Given the description of an element on the screen output the (x, y) to click on. 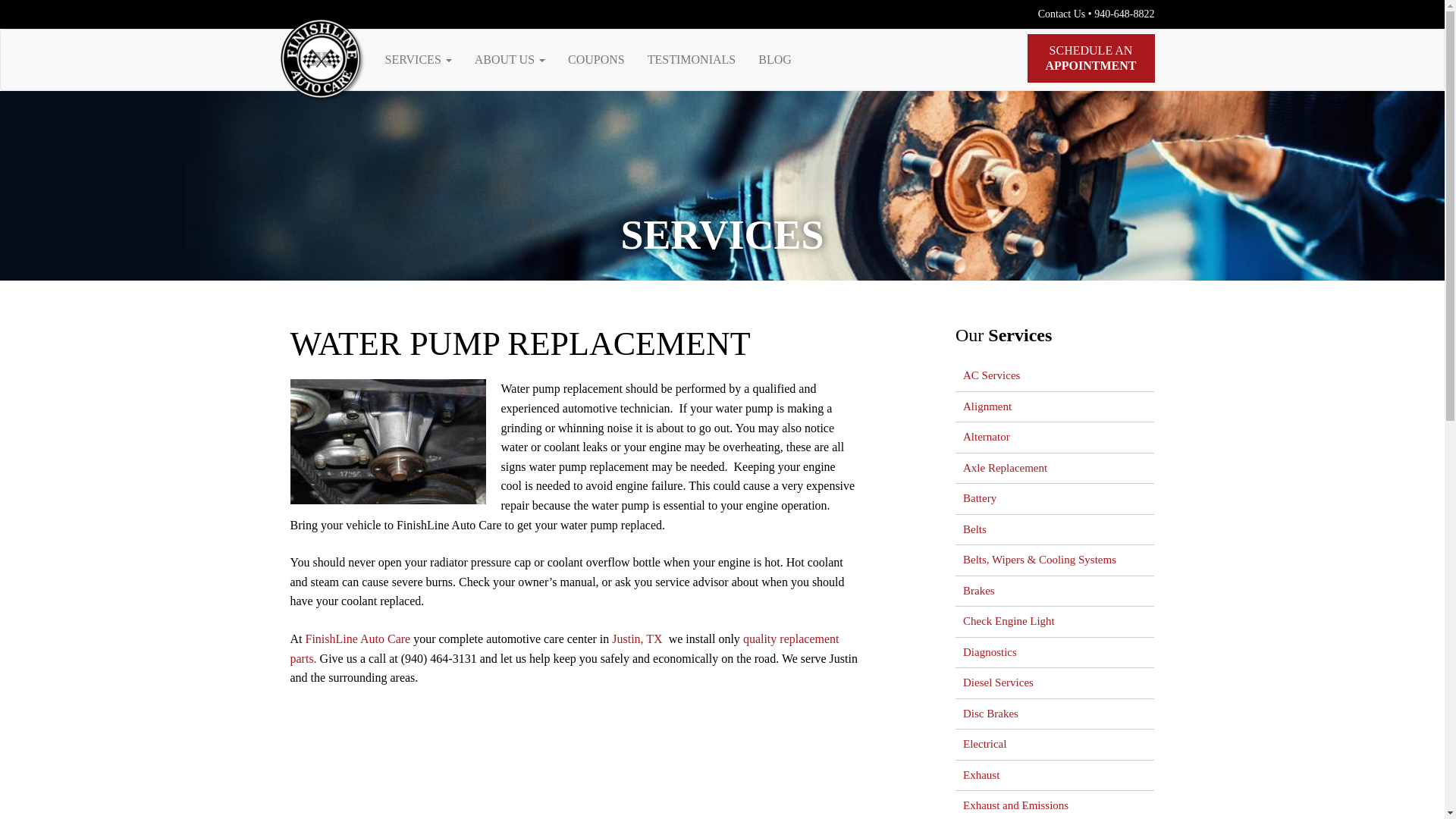
Services (417, 59)
ABOUT US (509, 59)
Testimonials (691, 59)
Blog (774, 59)
Coupons (596, 59)
940-648-8822 (1124, 13)
Contact Us (1062, 13)
About Us (509, 59)
SERVICES (417, 59)
